Given the description of an element on the screen output the (x, y) to click on. 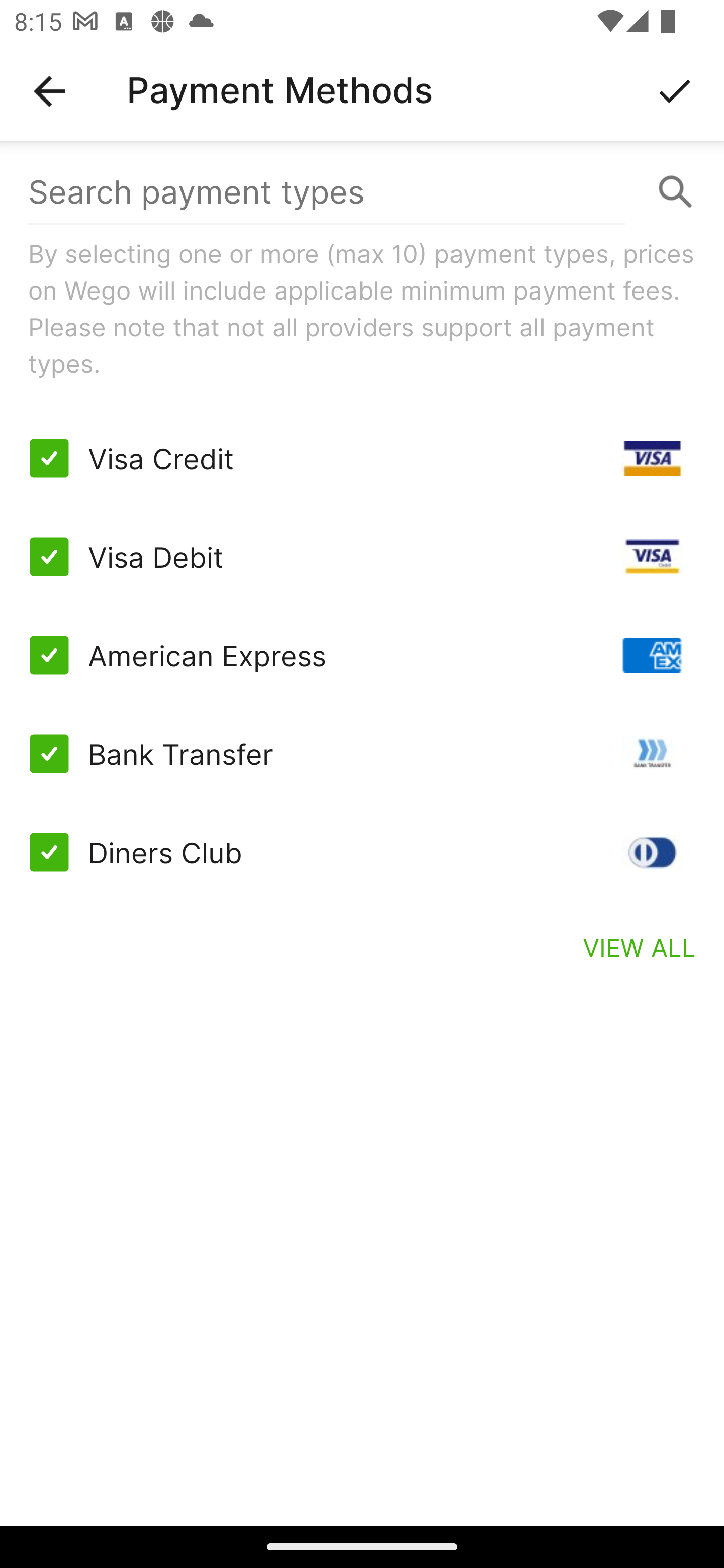
Search payment types  (361, 191)
Visa Credit (362, 458)
Visa Debit (362, 557)
American Express (362, 655)
Bank Transfer (362, 753)
Diners Club (362, 851)
VIEW ALL (639, 946)
